Given the description of an element on the screen output the (x, y) to click on. 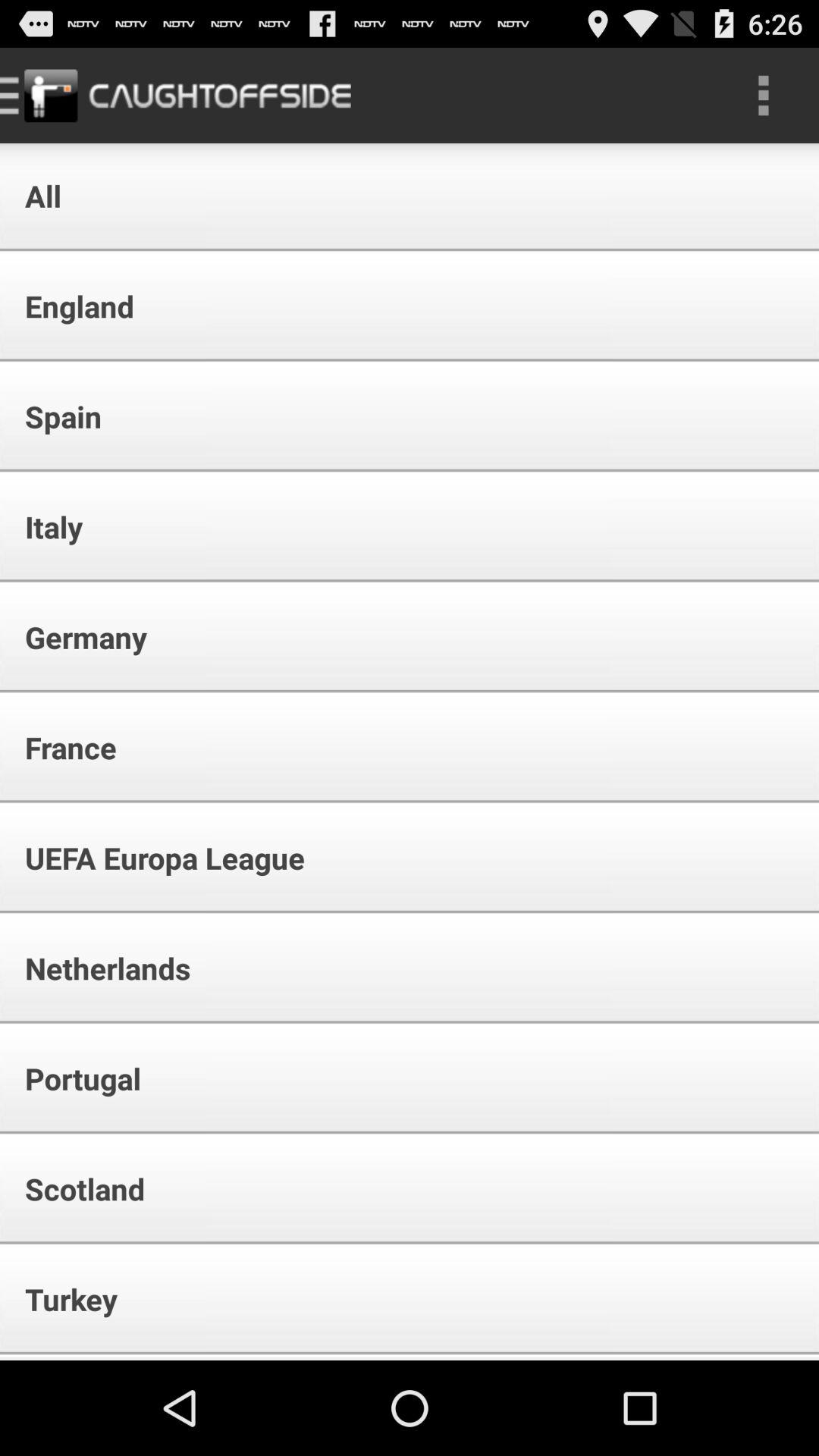
turn off app below scotland icon (61, 1299)
